Given the description of an element on the screen output the (x, y) to click on. 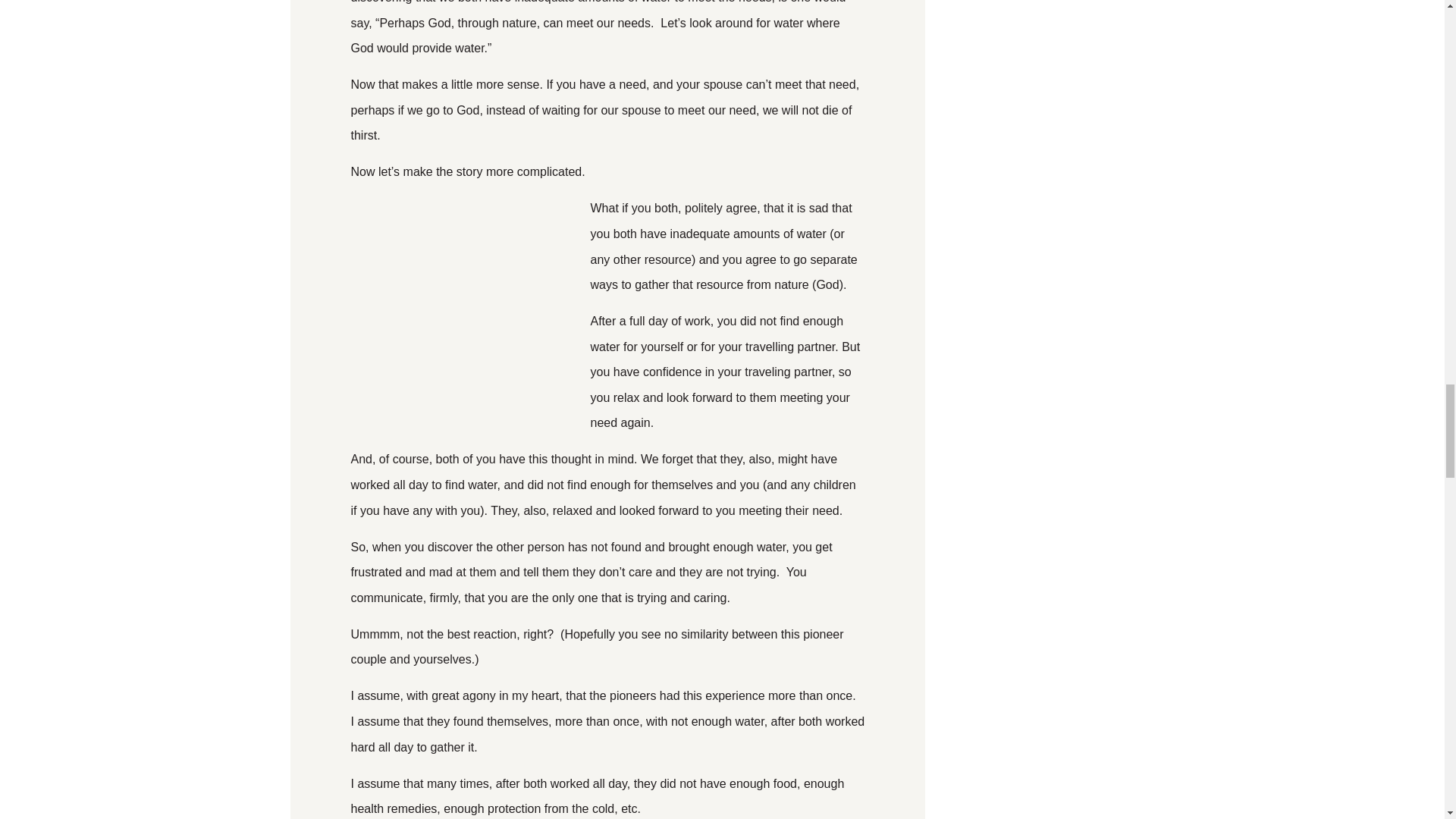
What To Do When You Have an Inadequate Spouse (464, 309)
